Given the description of an element on the screen output the (x, y) to click on. 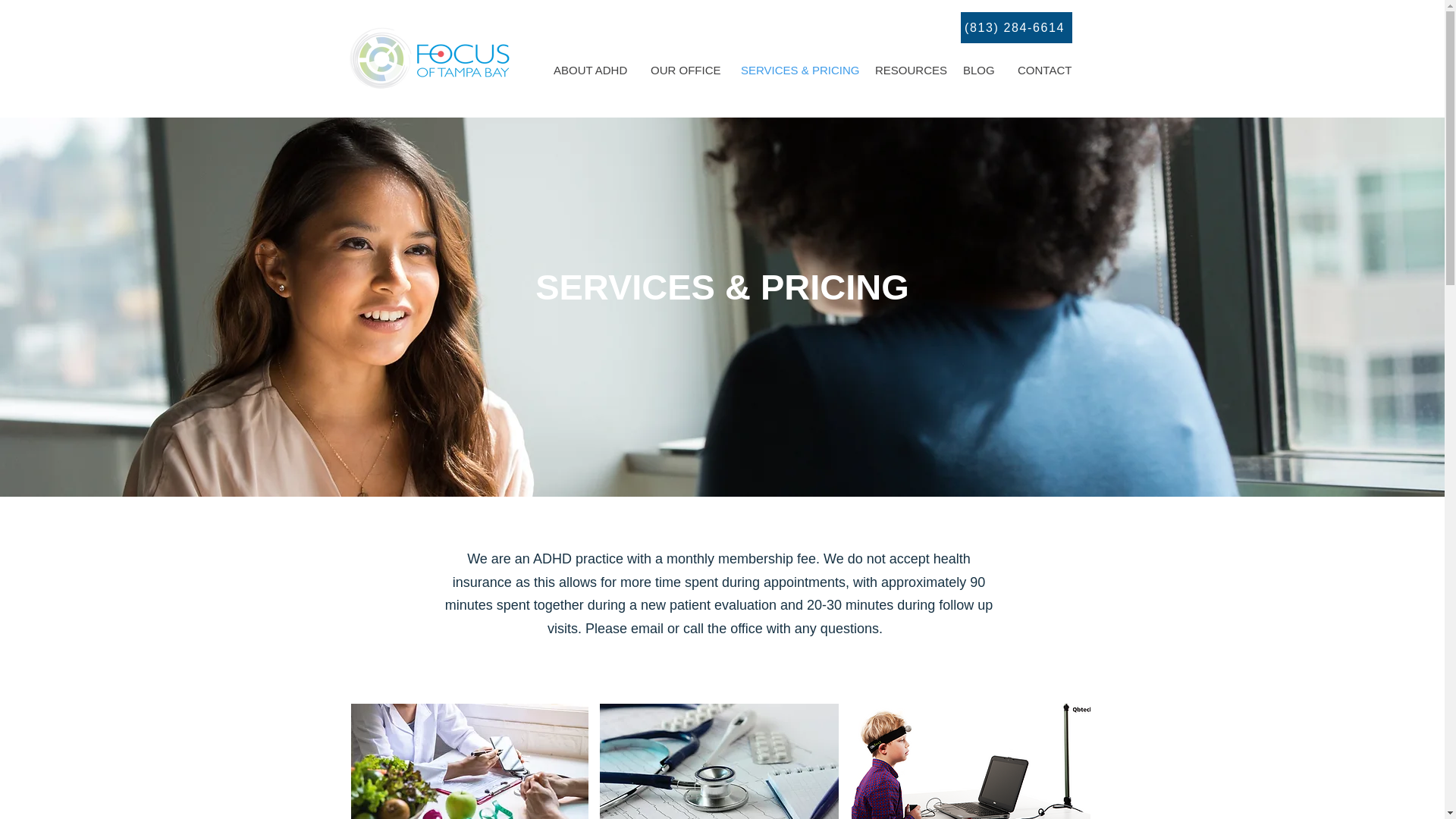
RESOURCES (907, 69)
BLOG (979, 69)
ABOUT ADHD (590, 69)
CONTACT (1045, 69)
